Given the description of an element on the screen output the (x, y) to click on. 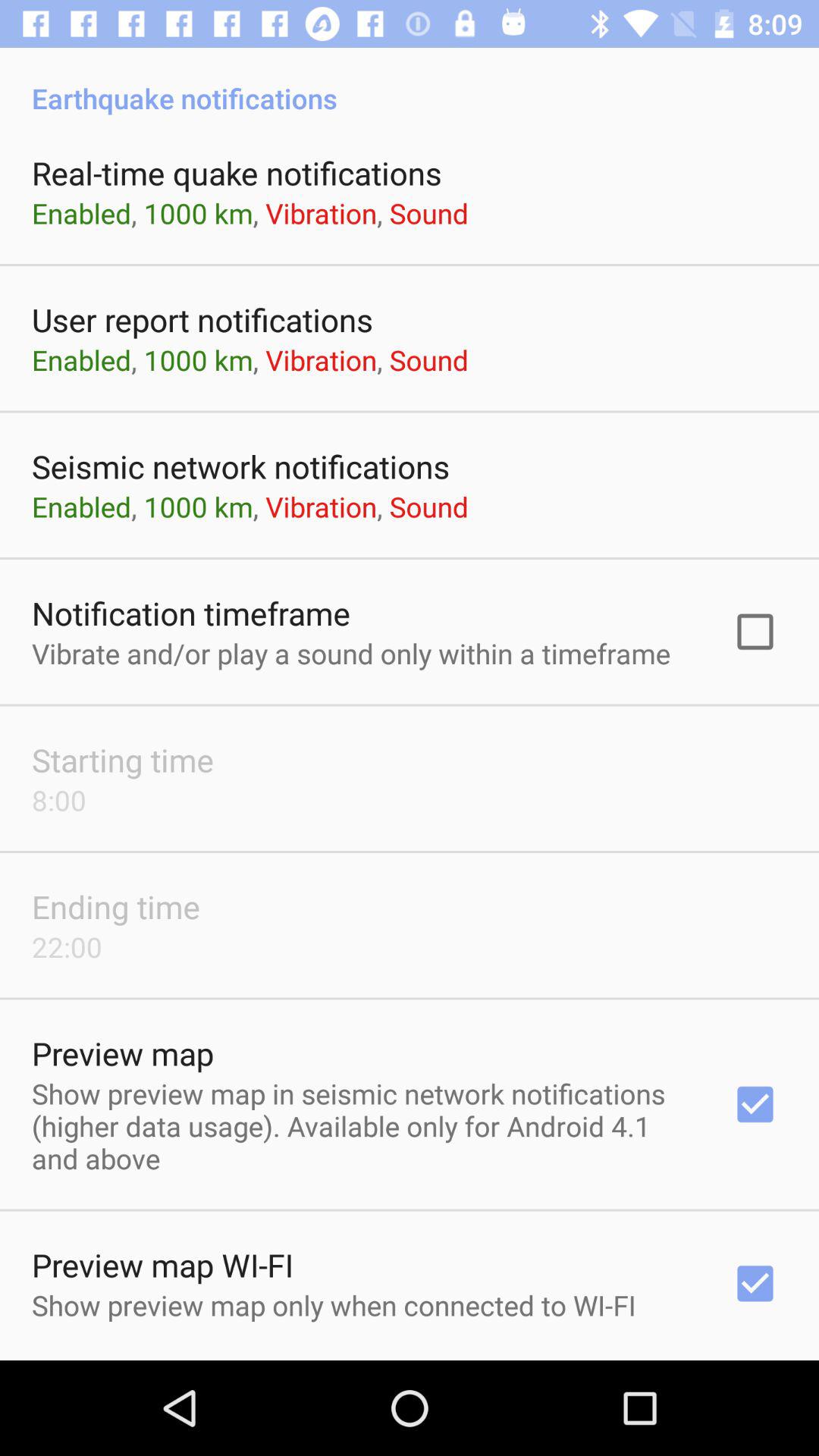
jump to the starting time icon (122, 759)
